Given the description of an element on the screen output the (x, y) to click on. 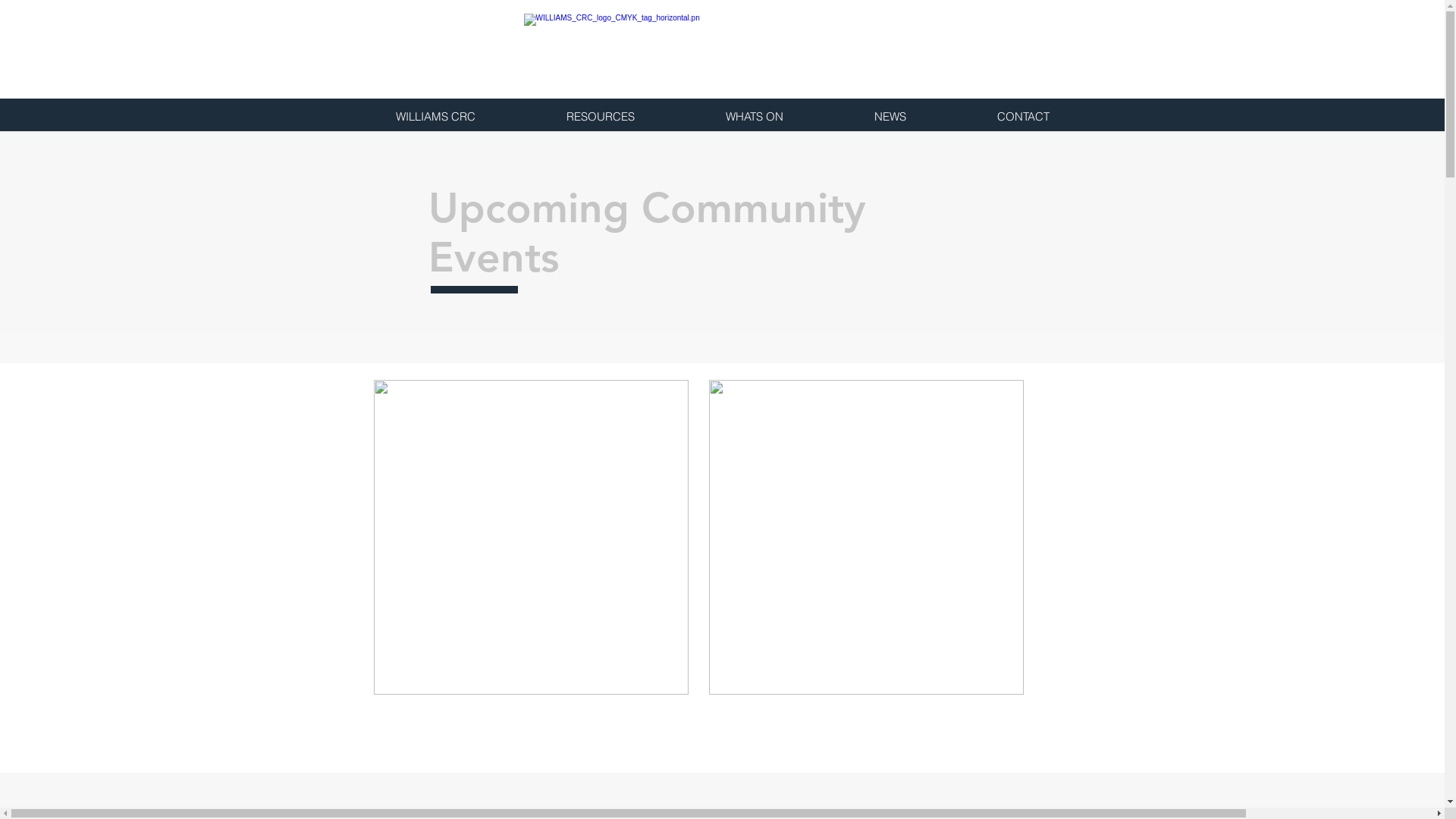
CONTACT Element type: text (1021, 116)
WHATS ON Element type: text (753, 116)
NEWS Element type: text (889, 116)
RESOURCES Element type: text (599, 116)
WILLIAMS CRC Element type: text (435, 116)
